Given the description of an element on the screen output the (x, y) to click on. 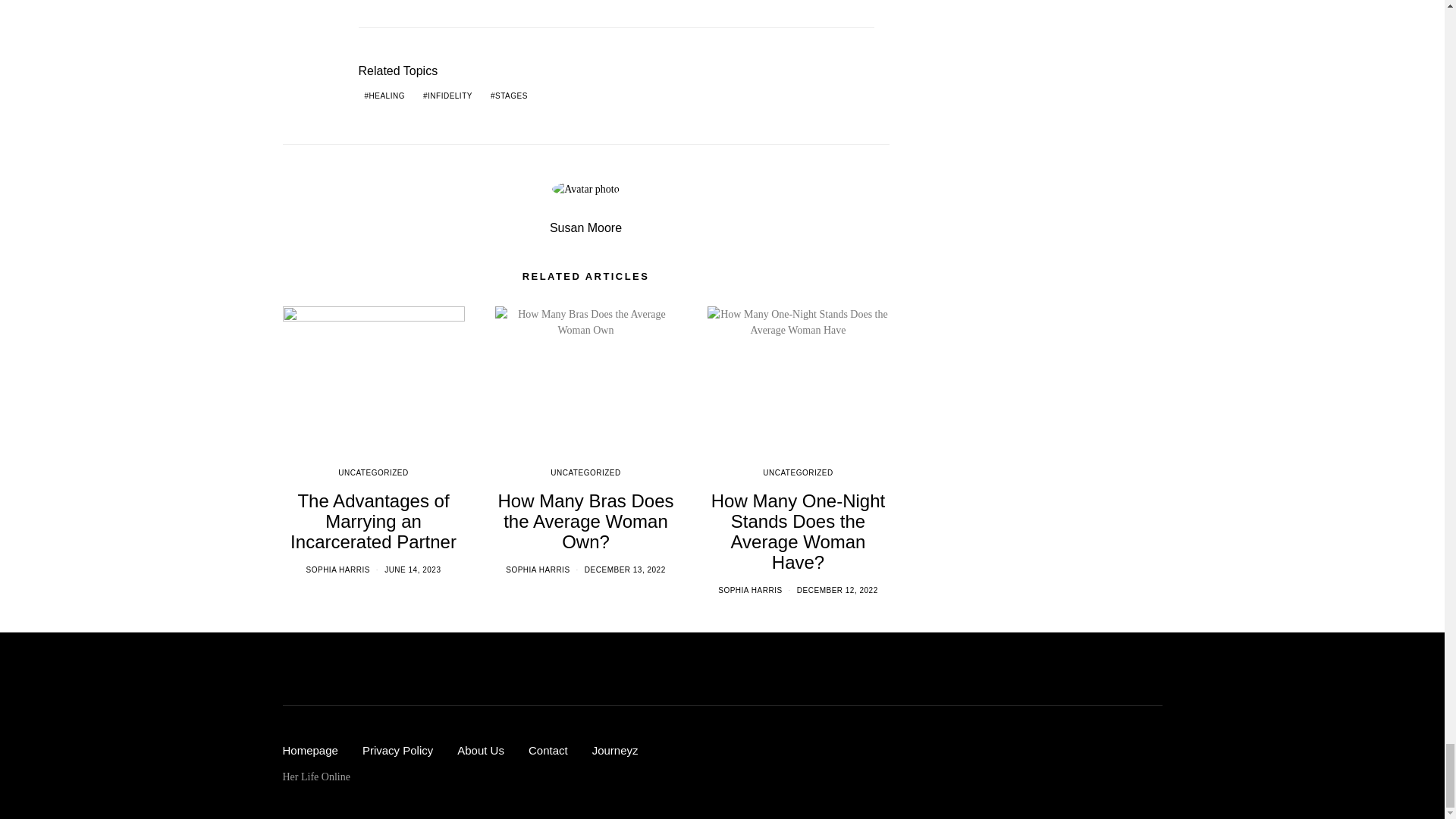
INFIDELITY (447, 95)
Susan Moore (585, 227)
STAGES (509, 95)
View all posts by Sophia Harris (537, 569)
View all posts by Sophia Harris (337, 569)
View all posts by Sophia Harris (749, 590)
HEALING (384, 95)
